Given the description of an element on the screen output the (x, y) to click on. 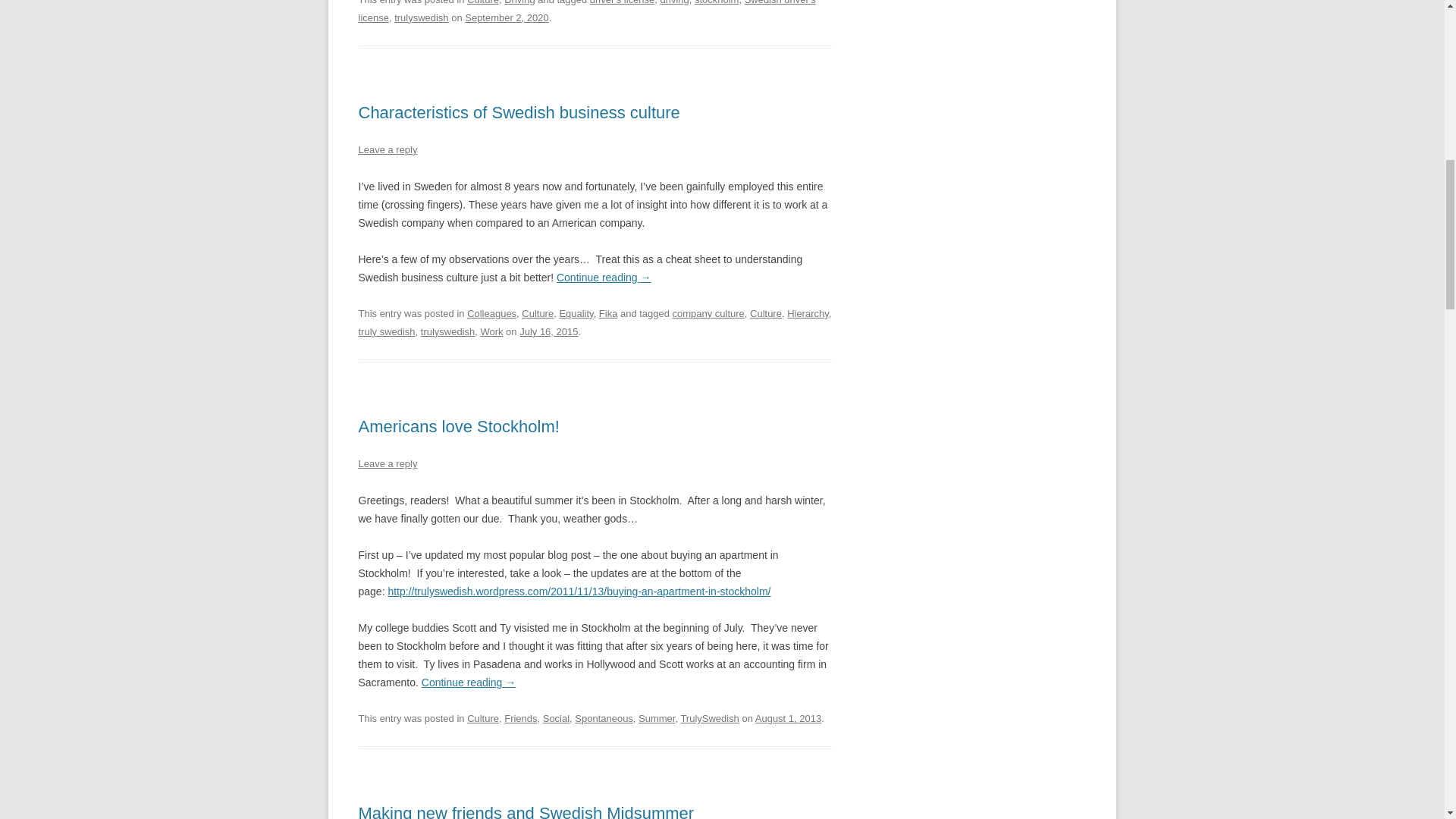
Culture (483, 2)
Culture (483, 717)
Culture (765, 313)
10:58 am (506, 17)
5:25 pm (548, 331)
Friends (520, 717)
stockholm (716, 2)
Equality (575, 313)
Characteristics of Swedish business culture (518, 112)
Work (491, 331)
company culture (708, 313)
driving (673, 2)
September 2, 2020 (506, 17)
July 16, 2015 (548, 331)
Americans love Stockholm! (458, 425)
